Given the description of an element on the screen output the (x, y) to click on. 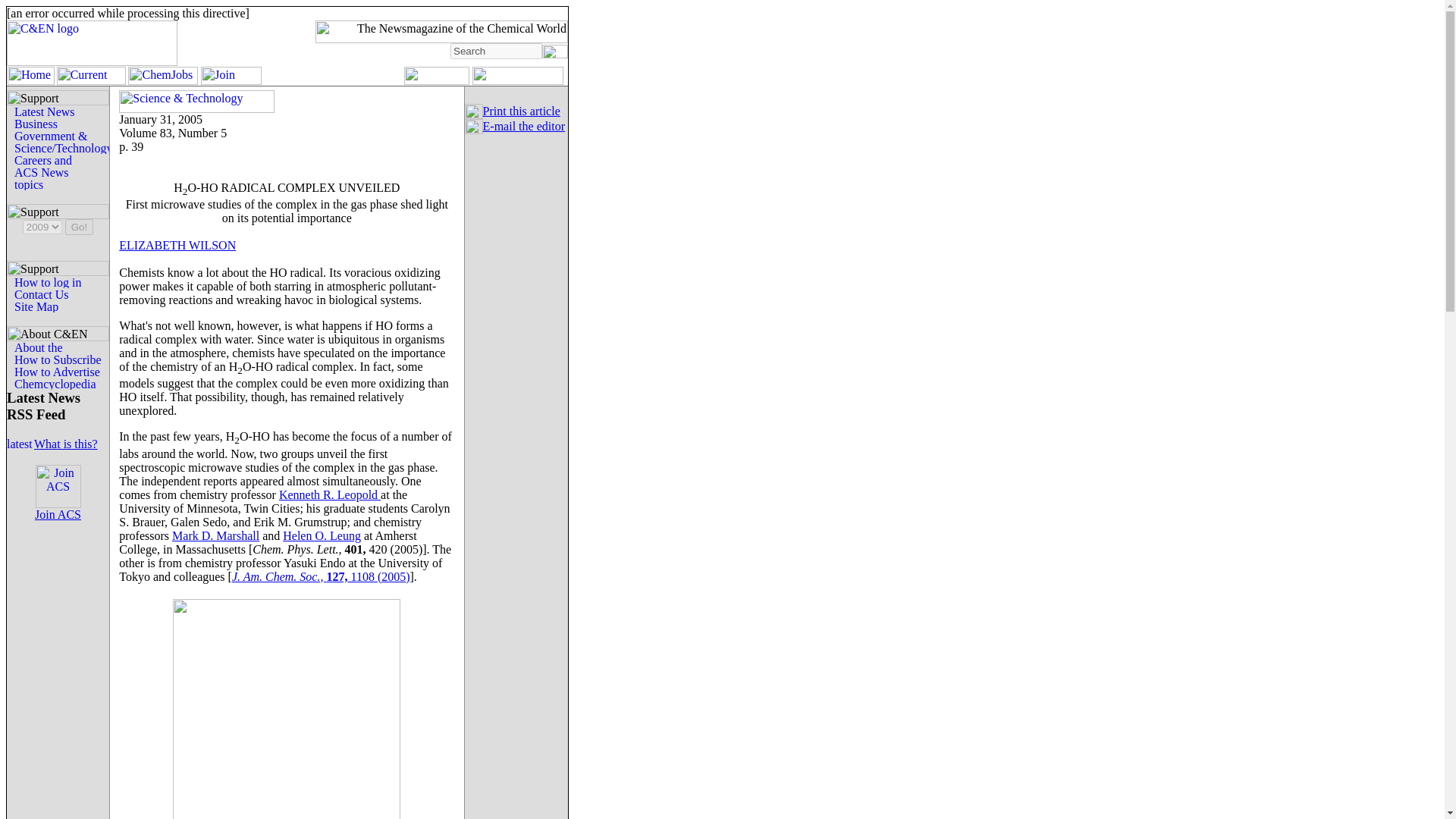
Print this article (521, 110)
Chemjobs (163, 80)
Helen O. Leung (321, 535)
Join ACS (231, 80)
Print this article (521, 110)
E-mail the editor (523, 125)
What is this? (65, 443)
Join ACS (57, 513)
nanofocus rss newsfeed instructions (65, 443)
Go! (79, 227)
